Given the description of an element on the screen output the (x, y) to click on. 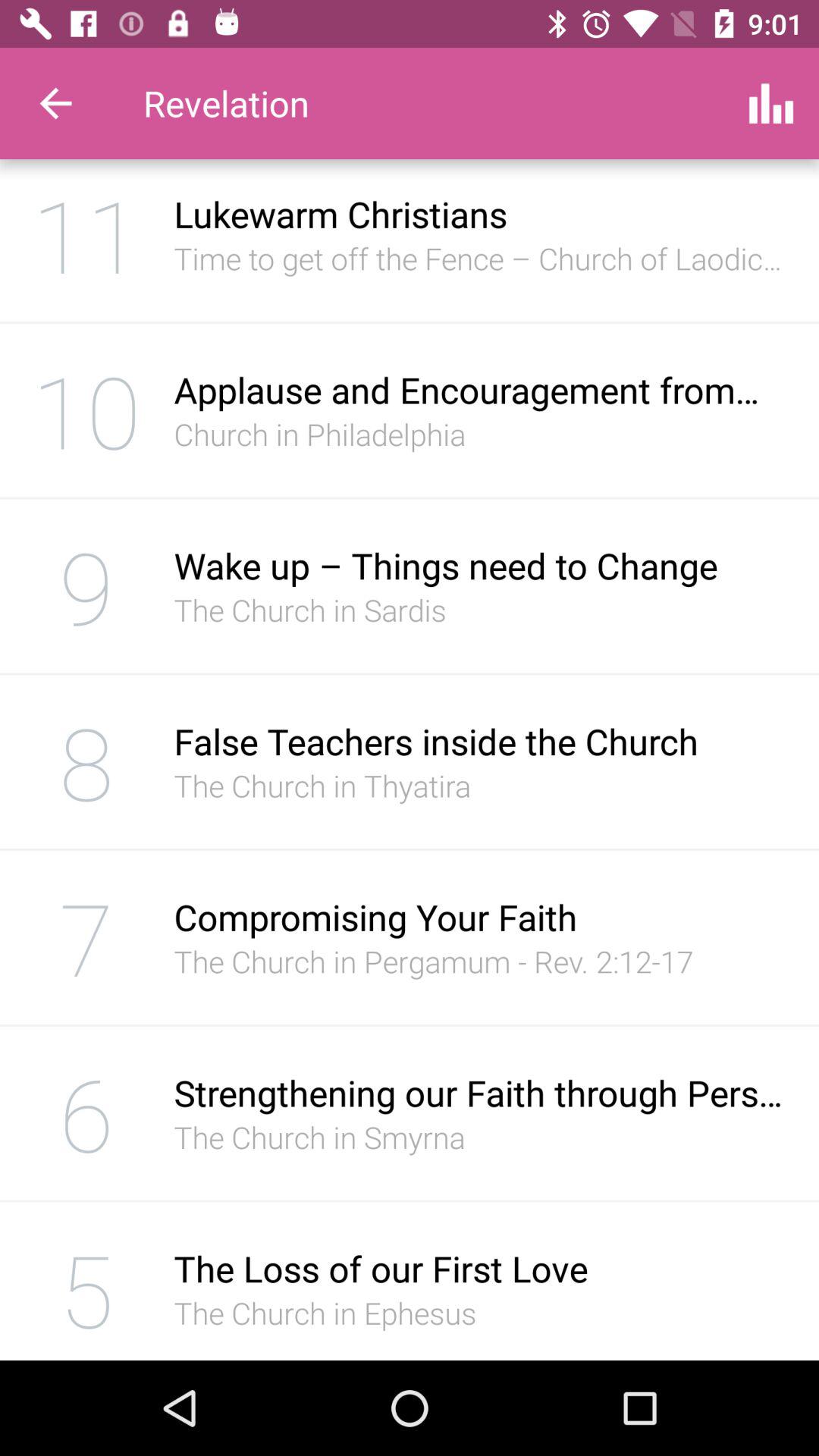
flip to the 11 icon (86, 240)
